Given the description of an element on the screen output the (x, y) to click on. 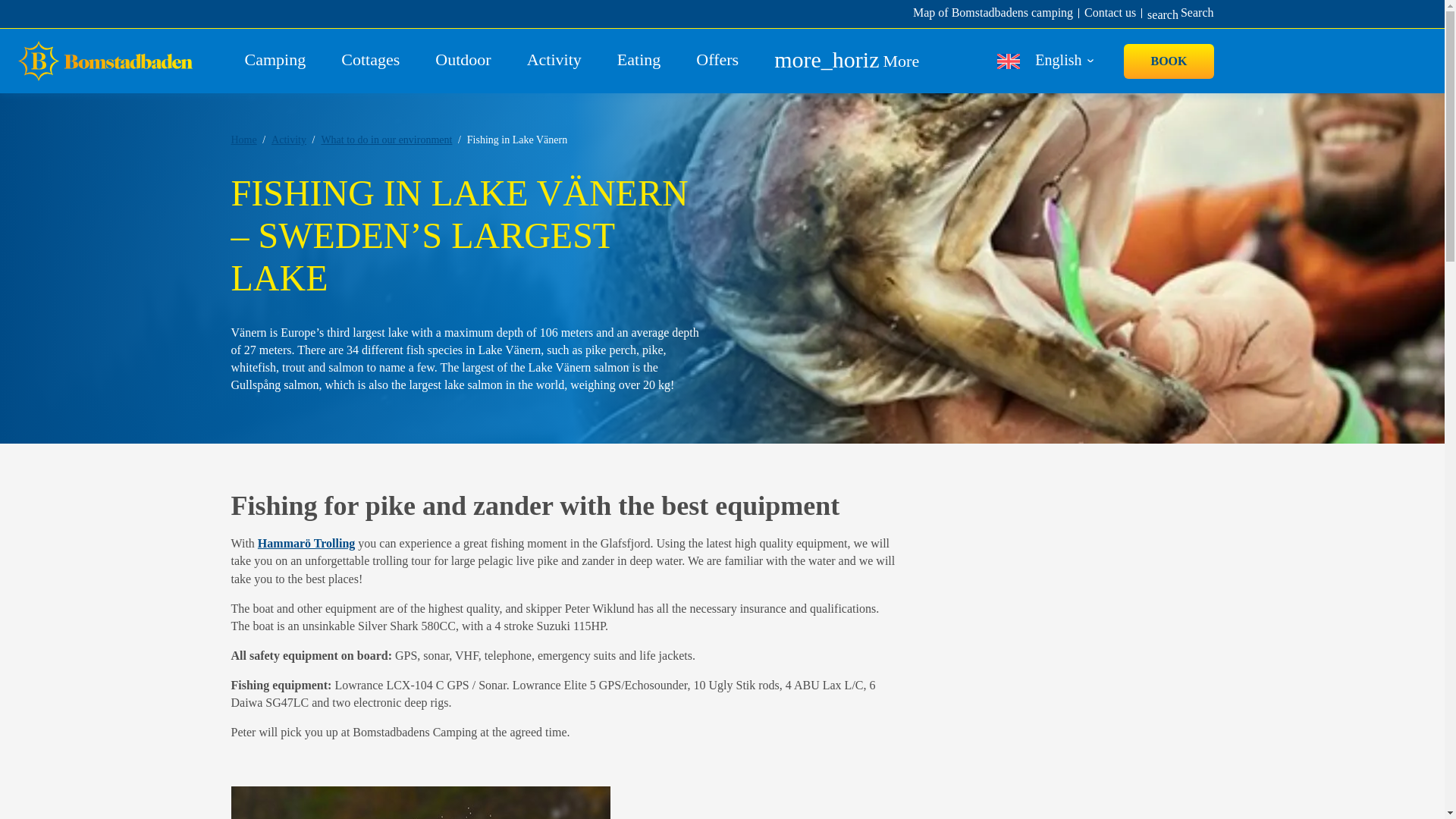
Contact us (1115, 13)
Camping (279, 59)
Outdoor (467, 59)
Activity (558, 59)
Cottages (1179, 13)
Map of Bomstadbadens camping (373, 59)
